Given the description of an element on the screen output the (x, y) to click on. 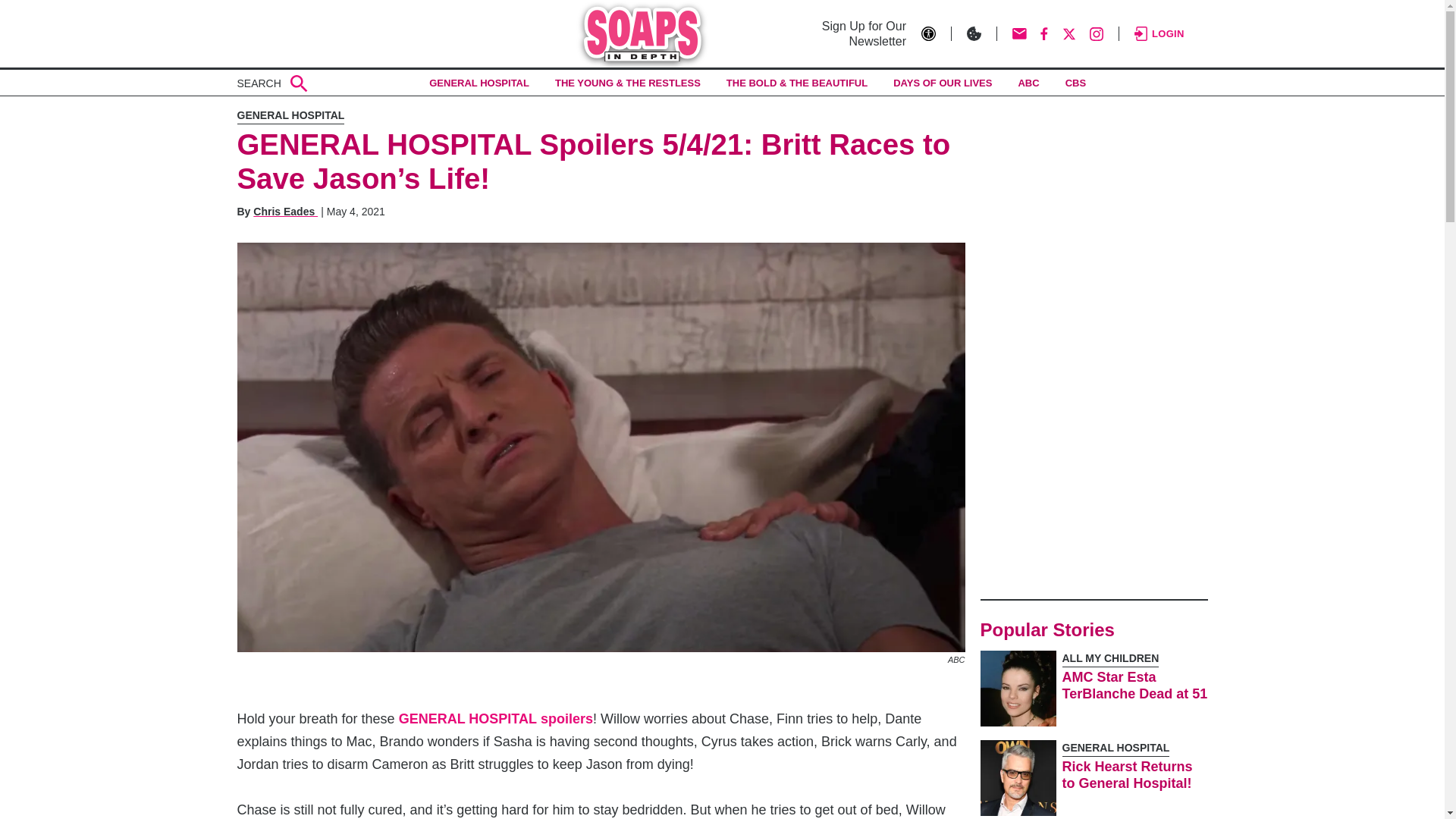
Accessibility statement link (936, 33)
Sign Up for Our Newsletter (856, 33)
